Given the description of an element on the screen output the (x, y) to click on. 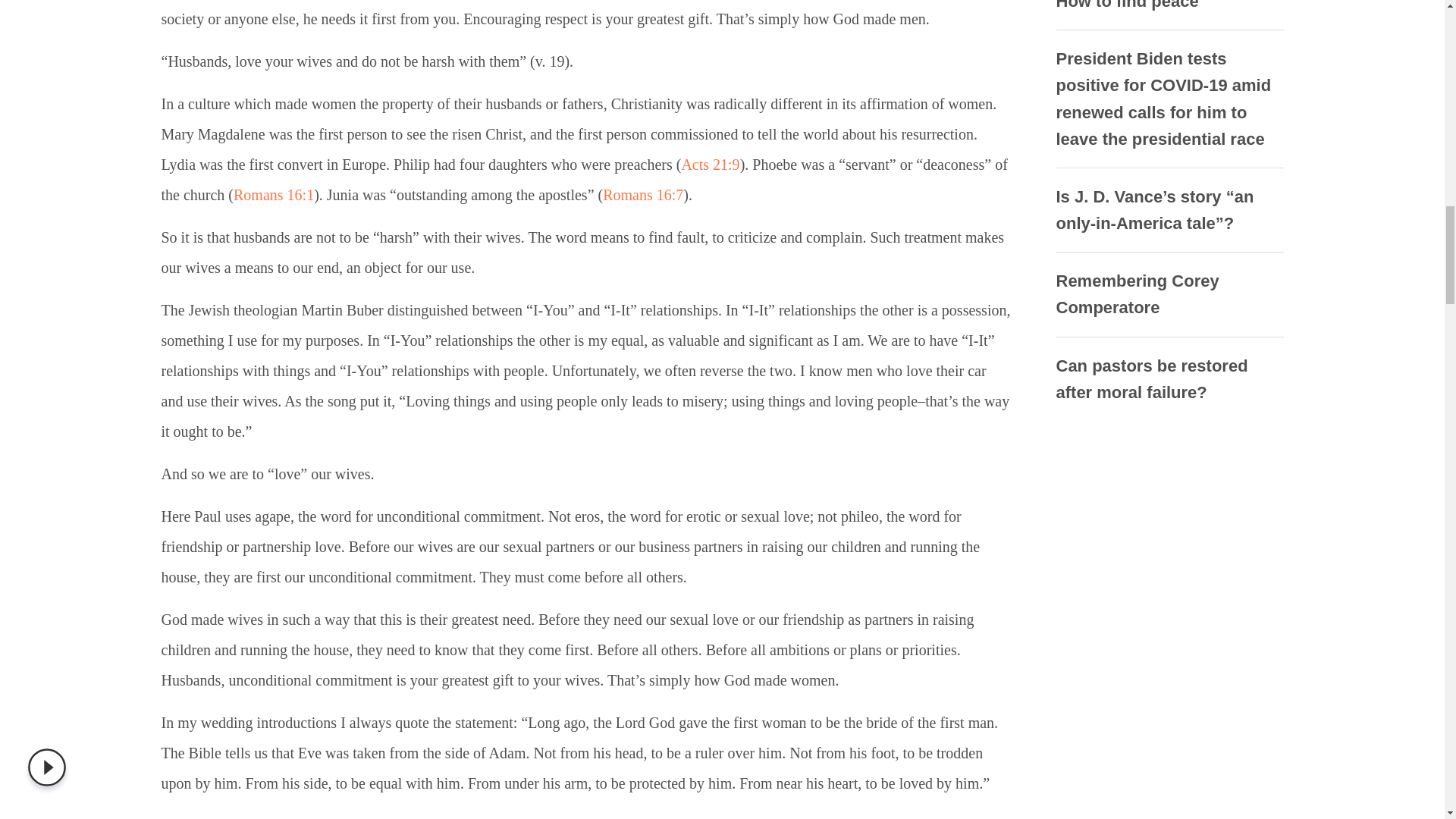
Remembering Corey Comperatore (1136, 293)
Acts 21:9 (710, 164)
How to find peace (1126, 5)
Romans 16:7 (642, 194)
Romans 16:1 (273, 194)
Can pastors be restored after moral failure? (1151, 379)
